Given the description of an element on the screen output the (x, y) to click on. 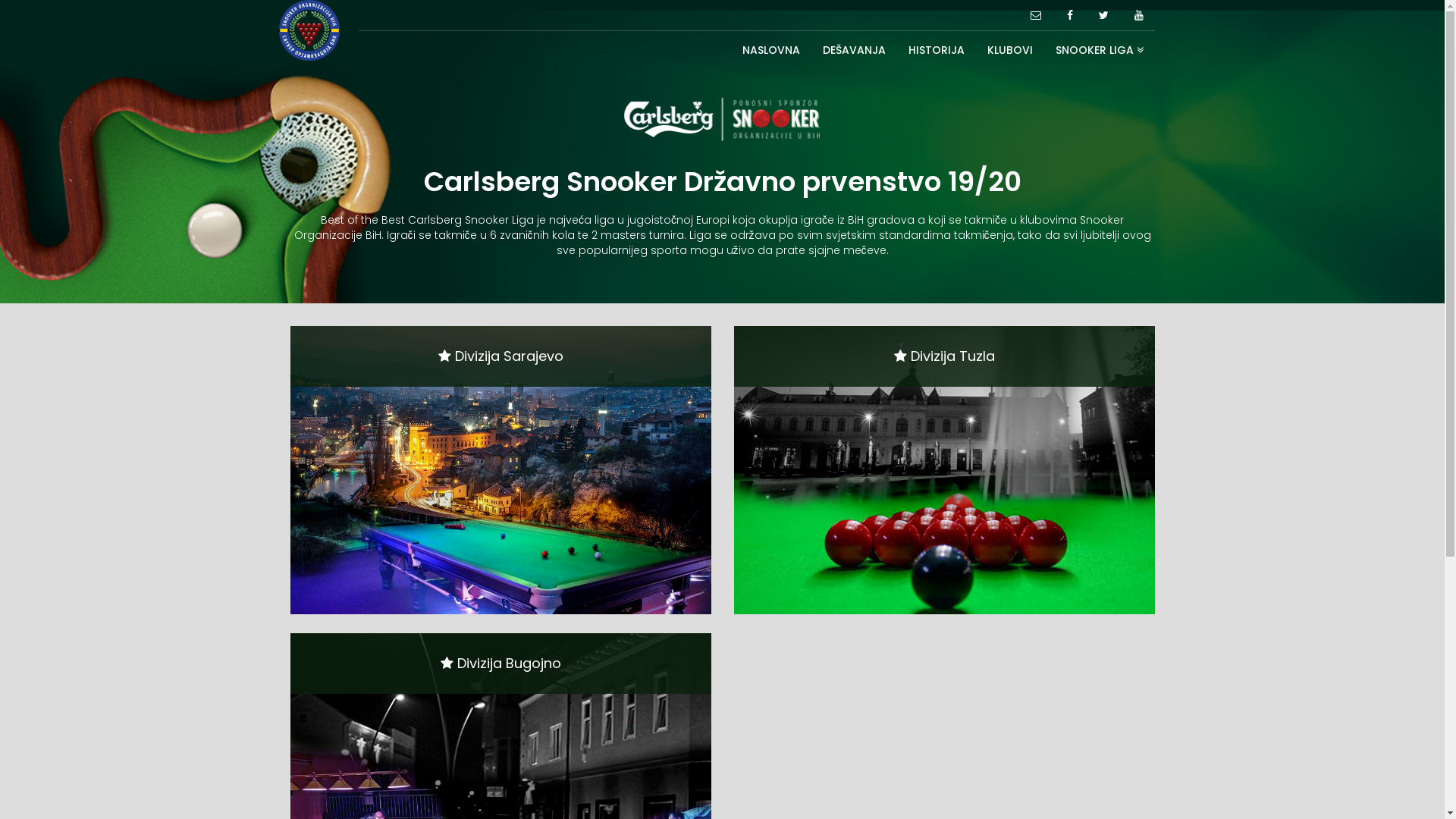
KLUBOVI Element type: text (1009, 50)
NASLOVNA Element type: text (771, 50)
Divizija Sarajevo Element type: text (499, 470)
SNOOKER LIGA Element type: text (1098, 50)
HISTORIJA Element type: text (935, 50)
Divizija Tuzla Element type: text (944, 470)
